Given the description of an element on the screen output the (x, y) to click on. 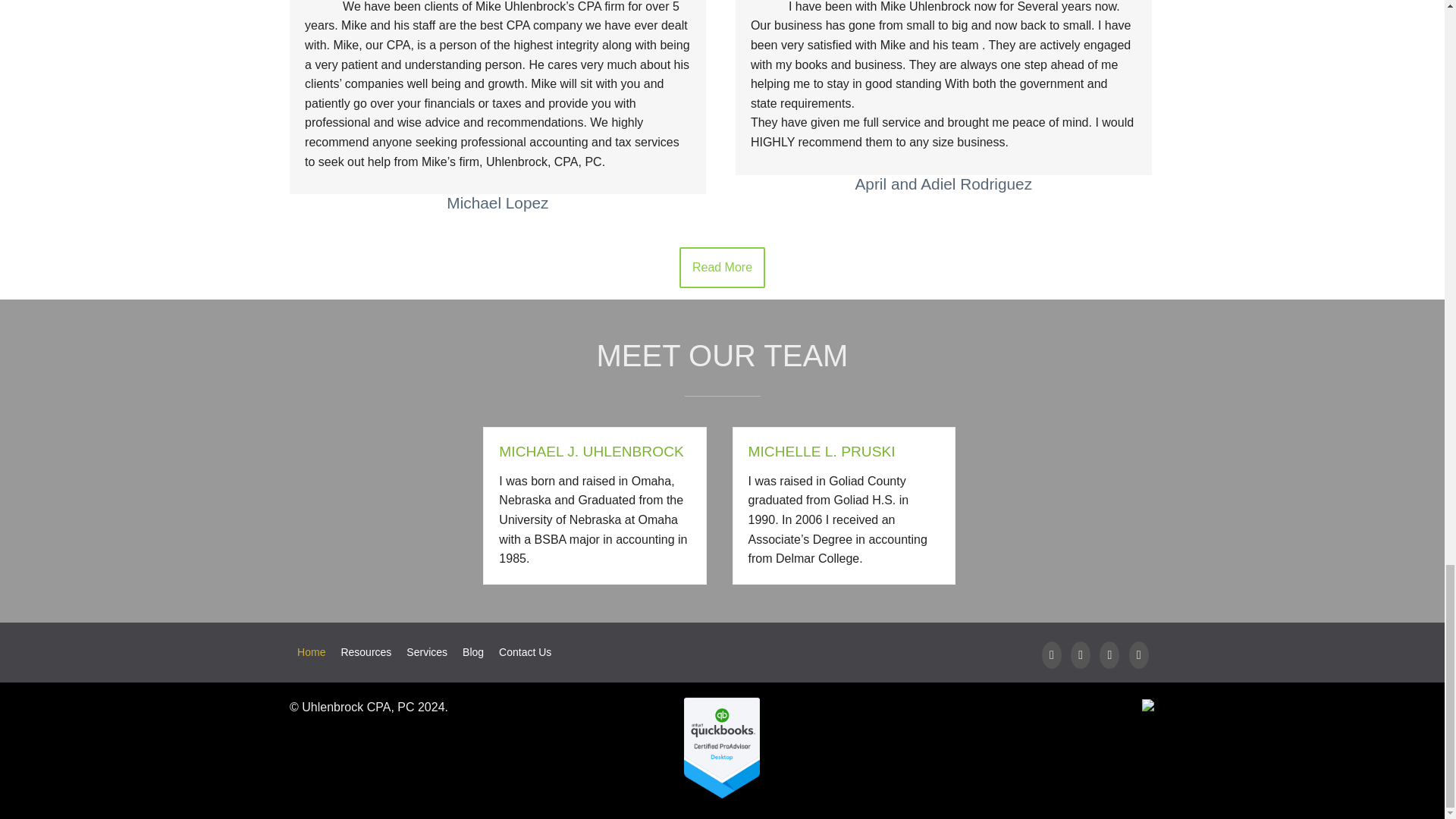
QuickBooks Accounting Software (722, 793)
